Given the description of an element on the screen output the (x, y) to click on. 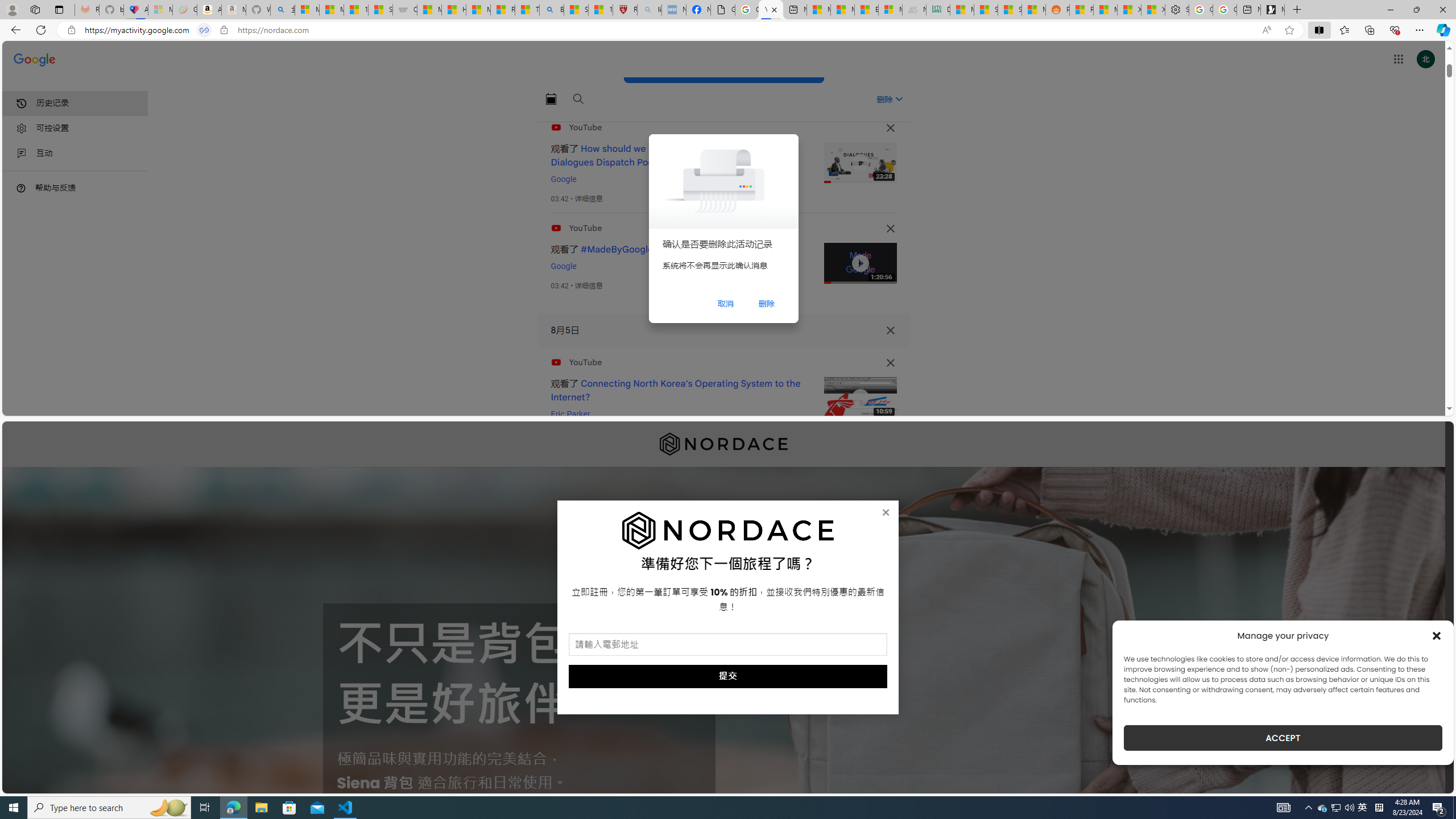
Class: DI7Mnf NMm5M (889, 330)
Class: i2GIId (21, 153)
Eric Parker (569, 414)
